Given the description of an element on the screen output the (x, y) to click on. 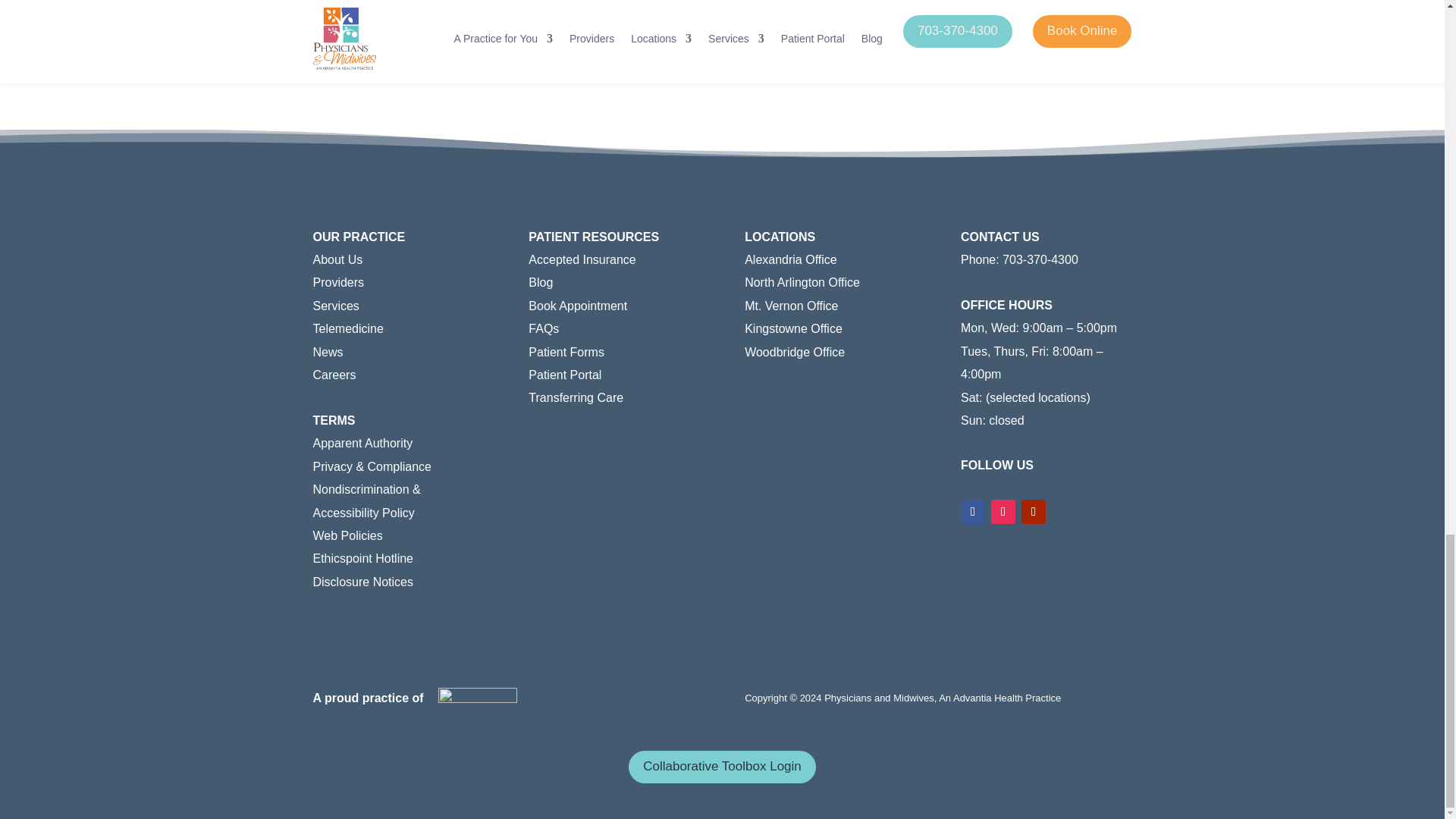
Follow on Youtube (1033, 511)
Follow on Instagram (1002, 511)
Follow on Facebook (972, 511)
